Given the description of an element on the screen output the (x, y) to click on. 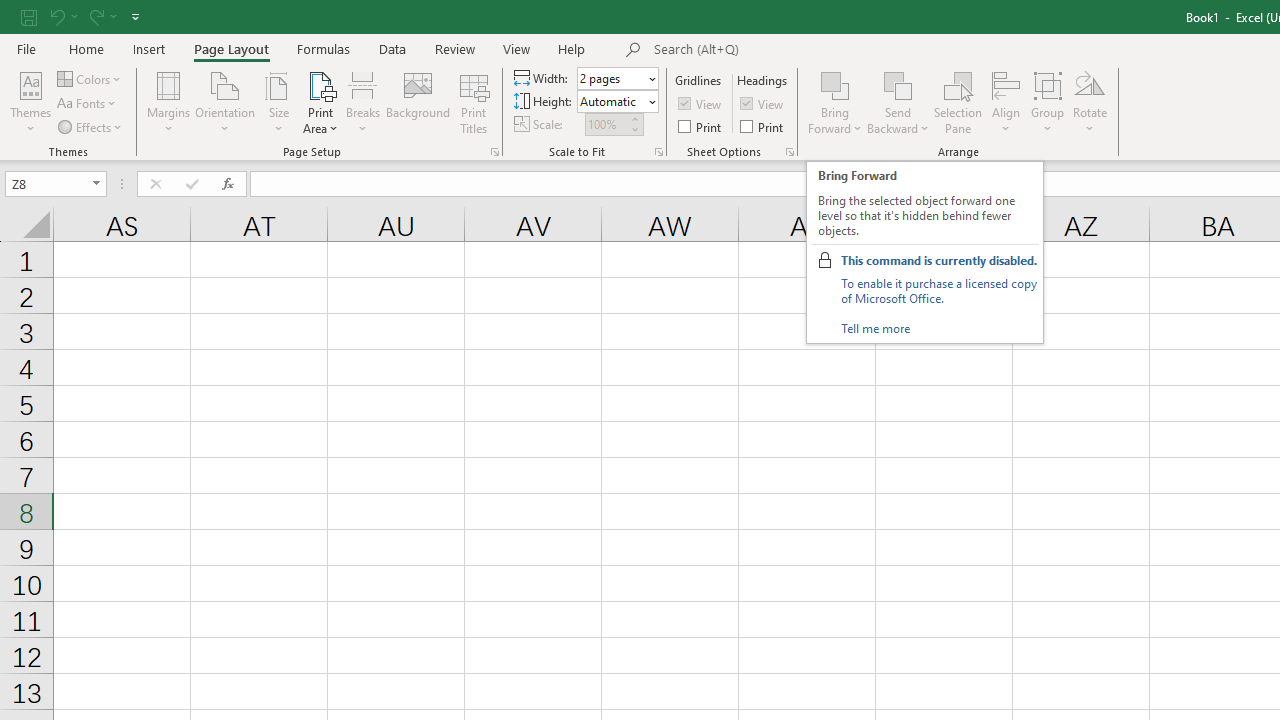
Sheet Options (789, 151)
Height (618, 101)
Rotate (1089, 102)
Less (633, 129)
Selection Pane... (958, 102)
Scale (605, 124)
Effects (91, 126)
